Given the description of an element on the screen output the (x, y) to click on. 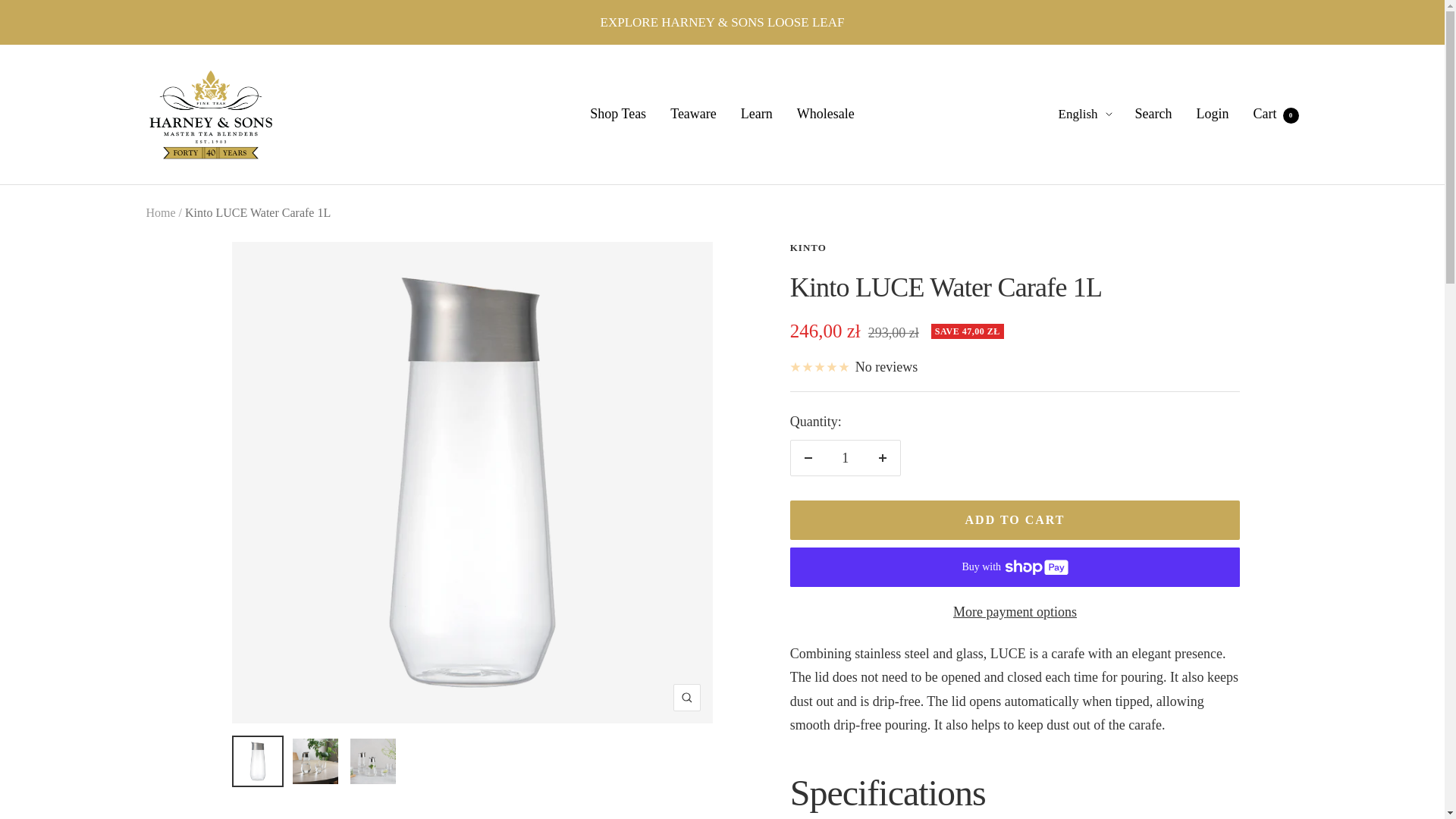
1 (1275, 113)
Login (844, 457)
Teaware (1212, 113)
Zoom (692, 114)
Home (686, 697)
Search (159, 212)
Harney and Sons Fine Teas, Europe (1153, 113)
pl (210, 114)
Wholesale (1078, 169)
KINTO (825, 114)
en (808, 247)
Shop Teas (1078, 199)
Learn (617, 114)
English (757, 114)
